Given the description of an element on the screen output the (x, y) to click on. 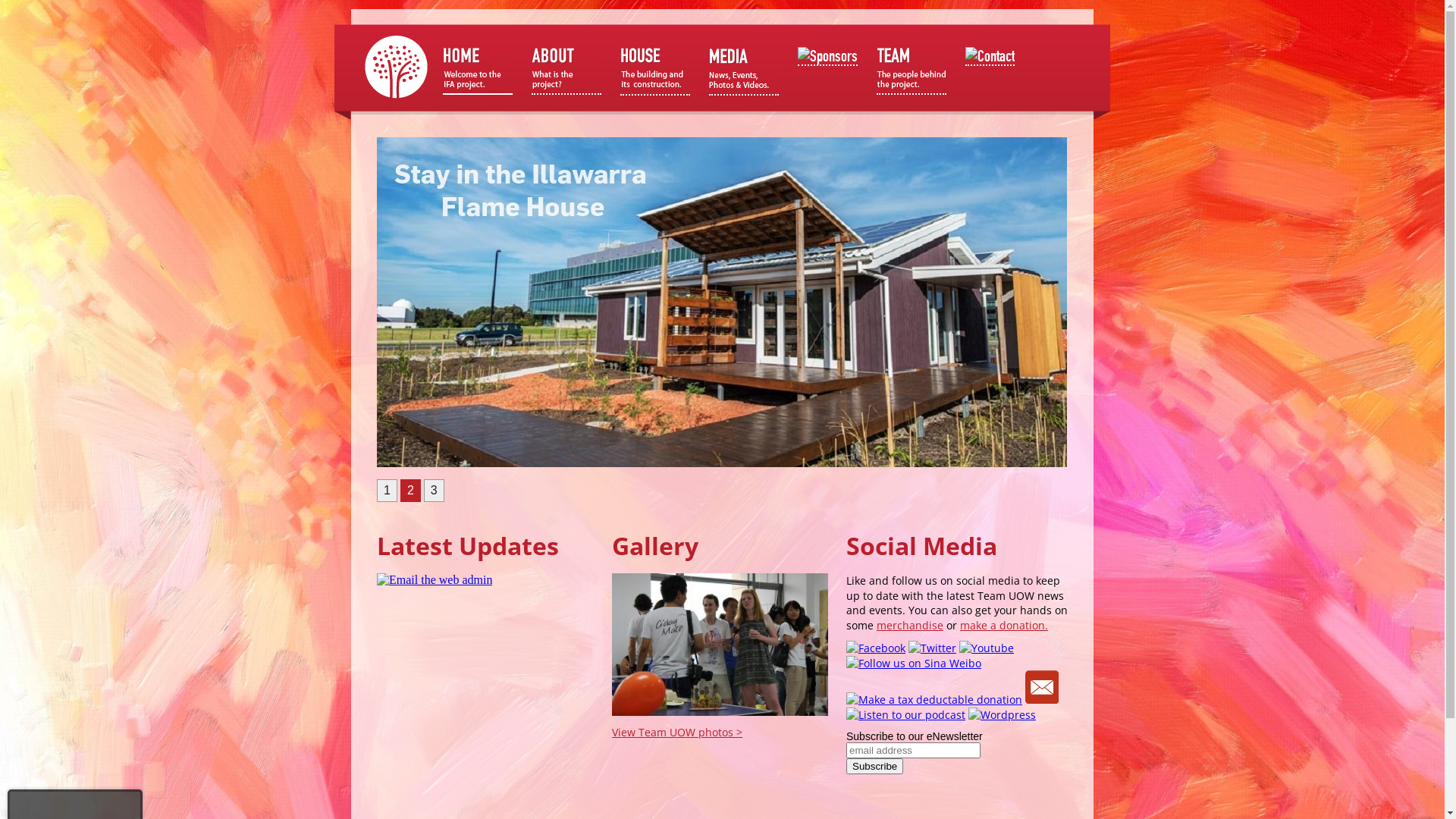
make a donation. Element type: text (1004, 625)
Subscribe Element type: text (874, 766)
View Team UOW photos > Element type: text (676, 731)
3 Element type: text (433, 490)
1 Element type: text (386, 490)
2 Element type: text (410, 490)
merchandise Element type: text (909, 625)
